Given the description of an element on the screen output the (x, y) to click on. 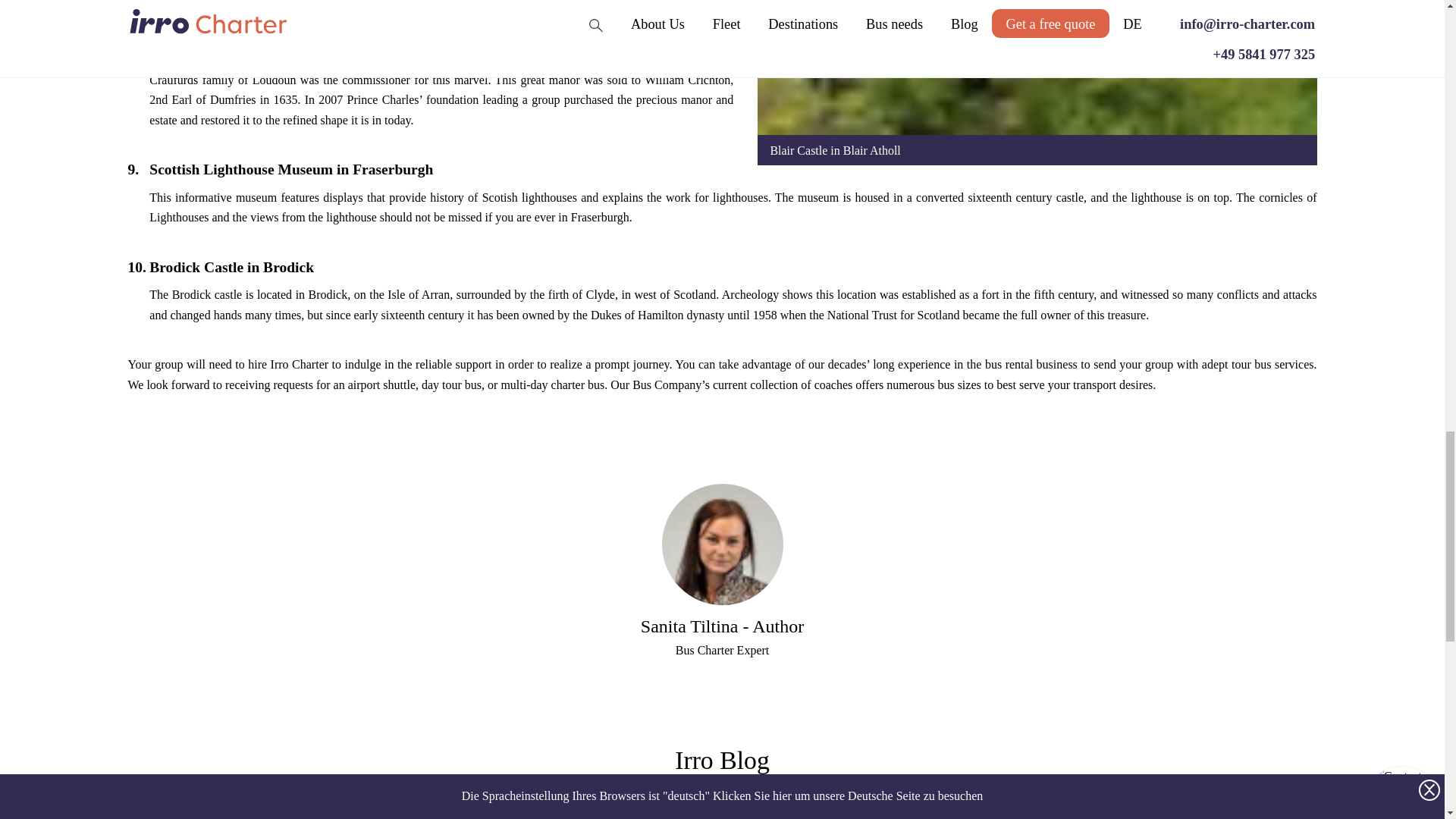
Blair Castle in Blair Atholl (1036, 67)
Sanita Tiltina (722, 544)
